Given the description of an element on the screen output the (x, y) to click on. 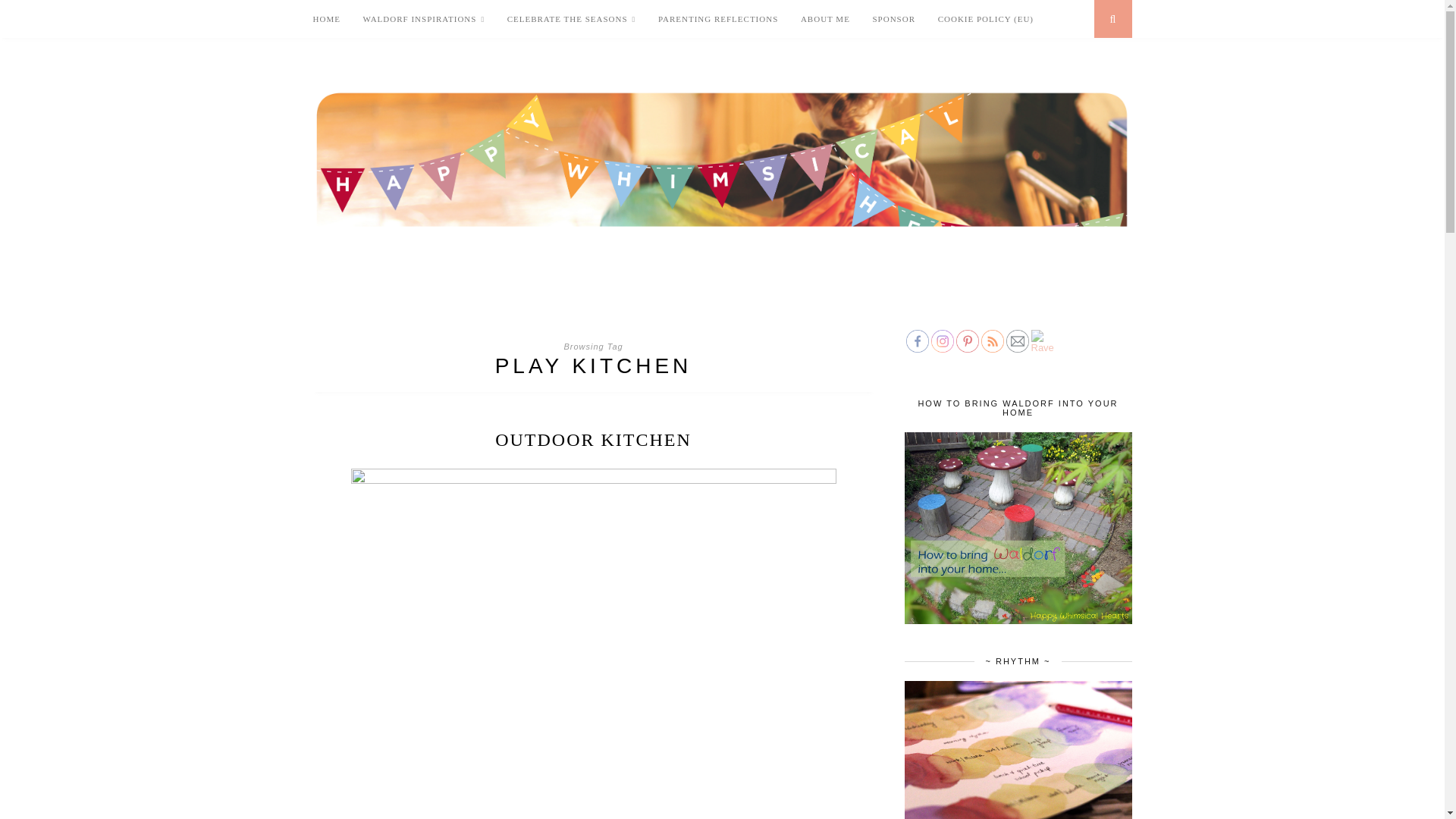
Follow by Email (1016, 341)
SPONSOR (893, 18)
Instagram (942, 341)
ABOUT ME (825, 18)
Facebook (916, 341)
Ravelry (1042, 341)
WALDORF INSPIRATIONS (423, 19)
OUTDOOR KITCHEN (593, 439)
CELEBRATE THE SEASONS (571, 19)
RSS (992, 341)
